Given the description of an element on the screen output the (x, y) to click on. 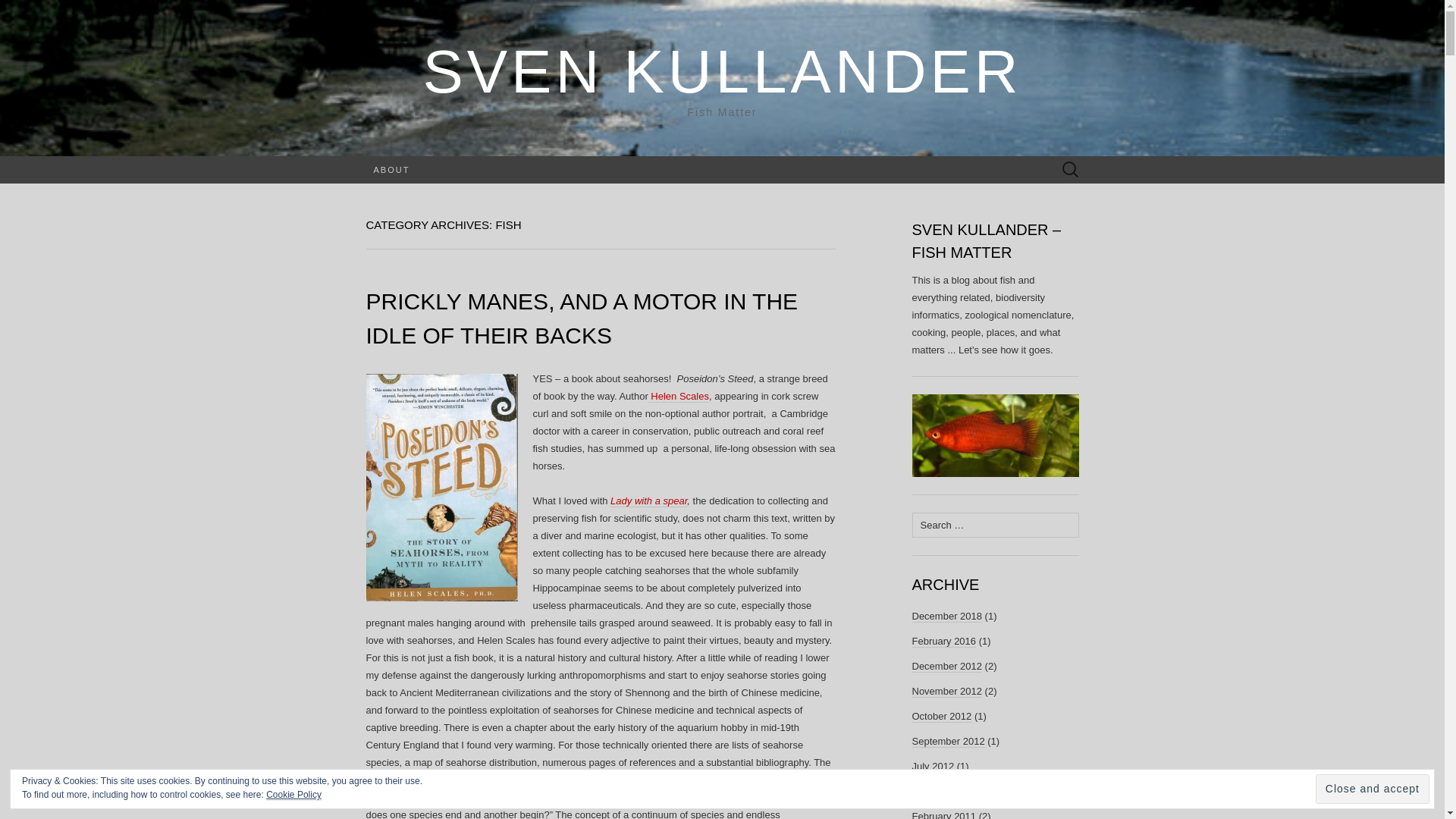
ABOUT (391, 169)
poseidon steed (440, 487)
Search (16, 12)
Helen Scales (678, 396)
Sven Kullander (722, 71)
SVEN KULLANDER (722, 71)
Lady with a spear (648, 500)
Close and accept (1372, 788)
PRICKLY MANES, AND A MOTOR IN THE IDLE OF THEIR BACKS (581, 318)
